Given the description of an element on the screen output the (x, y) to click on. 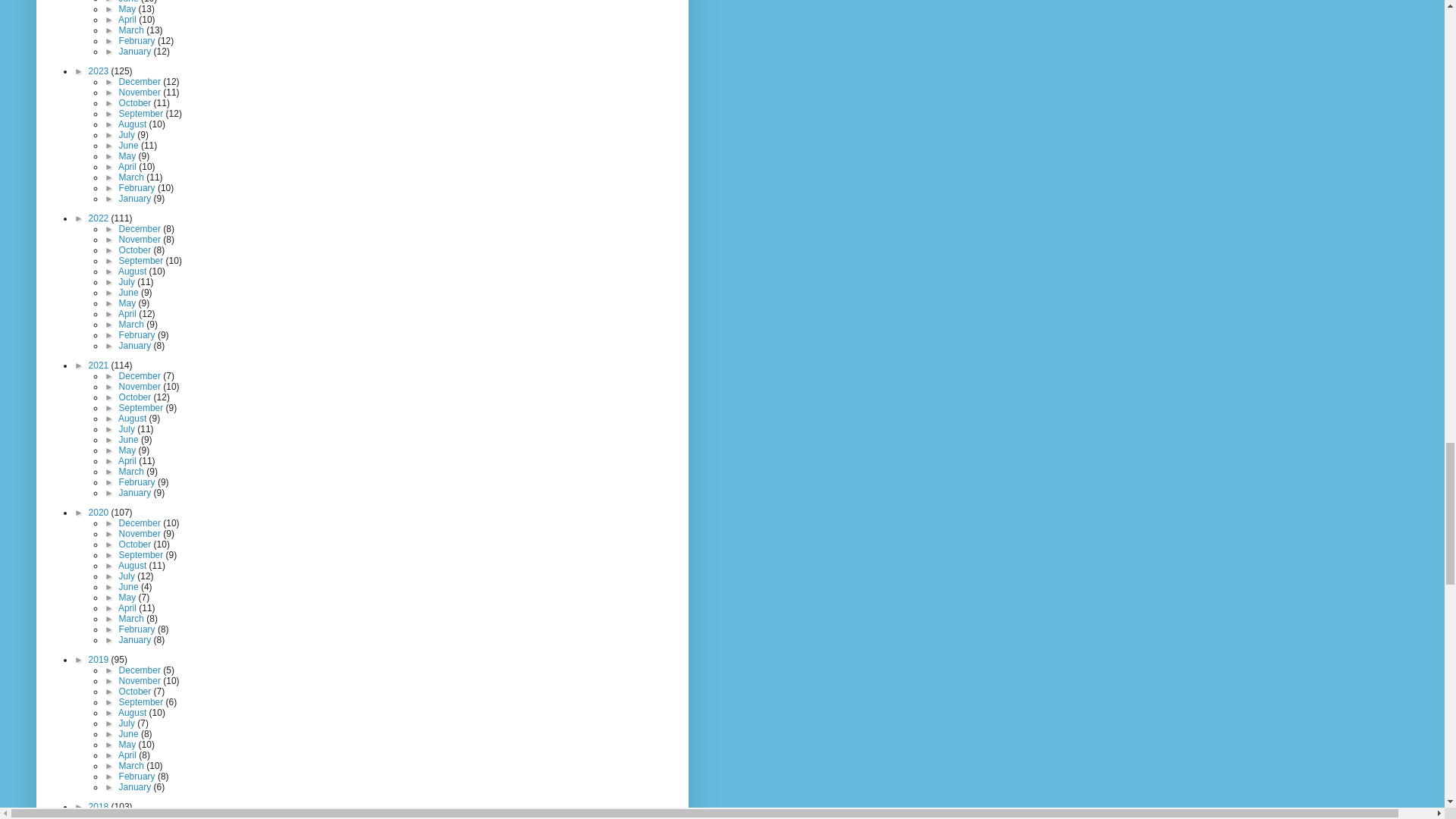
April (127, 19)
March (133, 30)
June (130, 2)
May (128, 9)
